Given the description of an element on the screen output the (x, y) to click on. 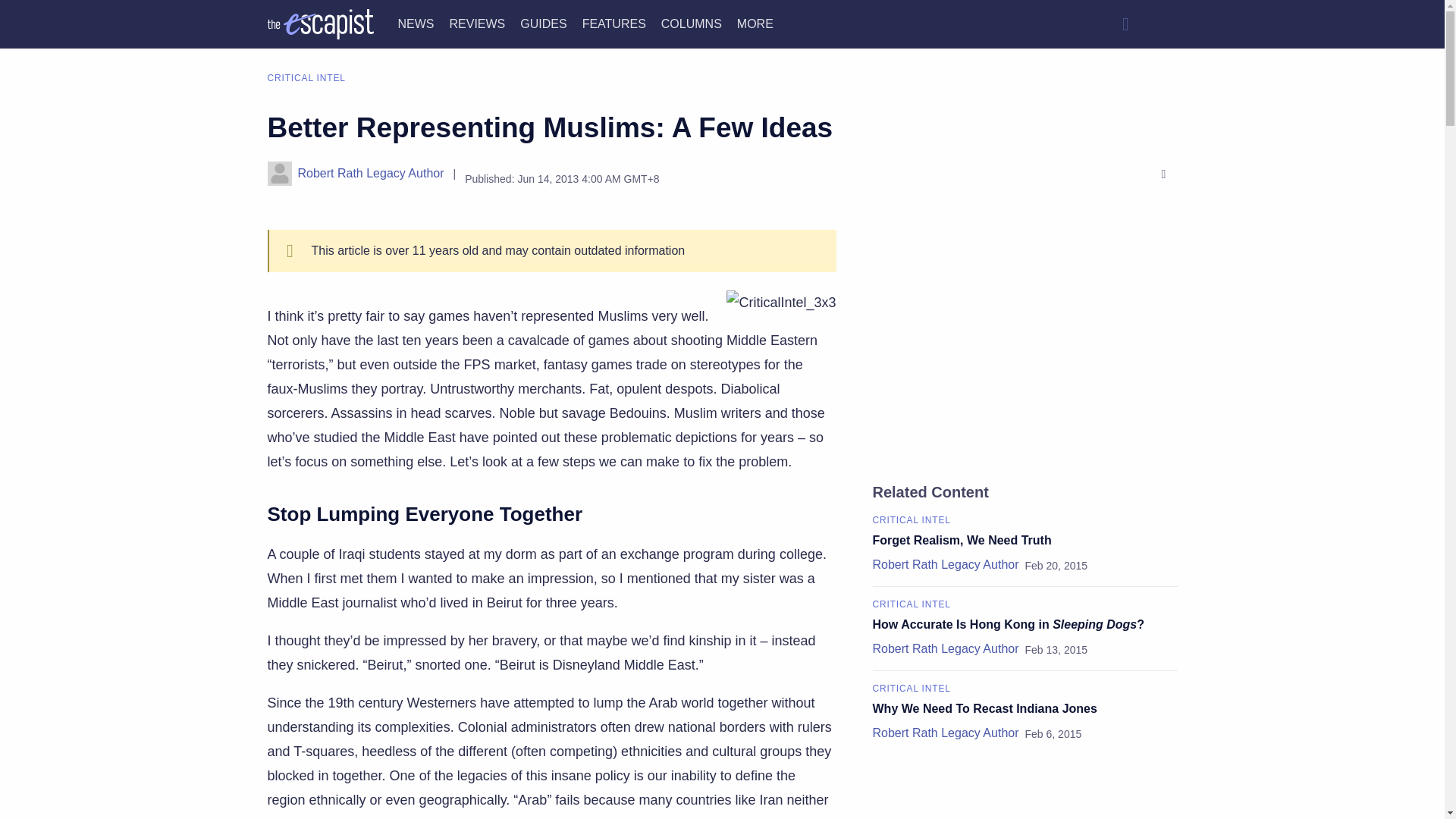
Dark Mode (1161, 24)
COLUMNS (691, 23)
NEWS (415, 23)
FEATURES (614, 23)
GUIDES (542, 23)
Search (1124, 24)
REVIEWS (476, 23)
